Given the description of an element on the screen output the (x, y) to click on. 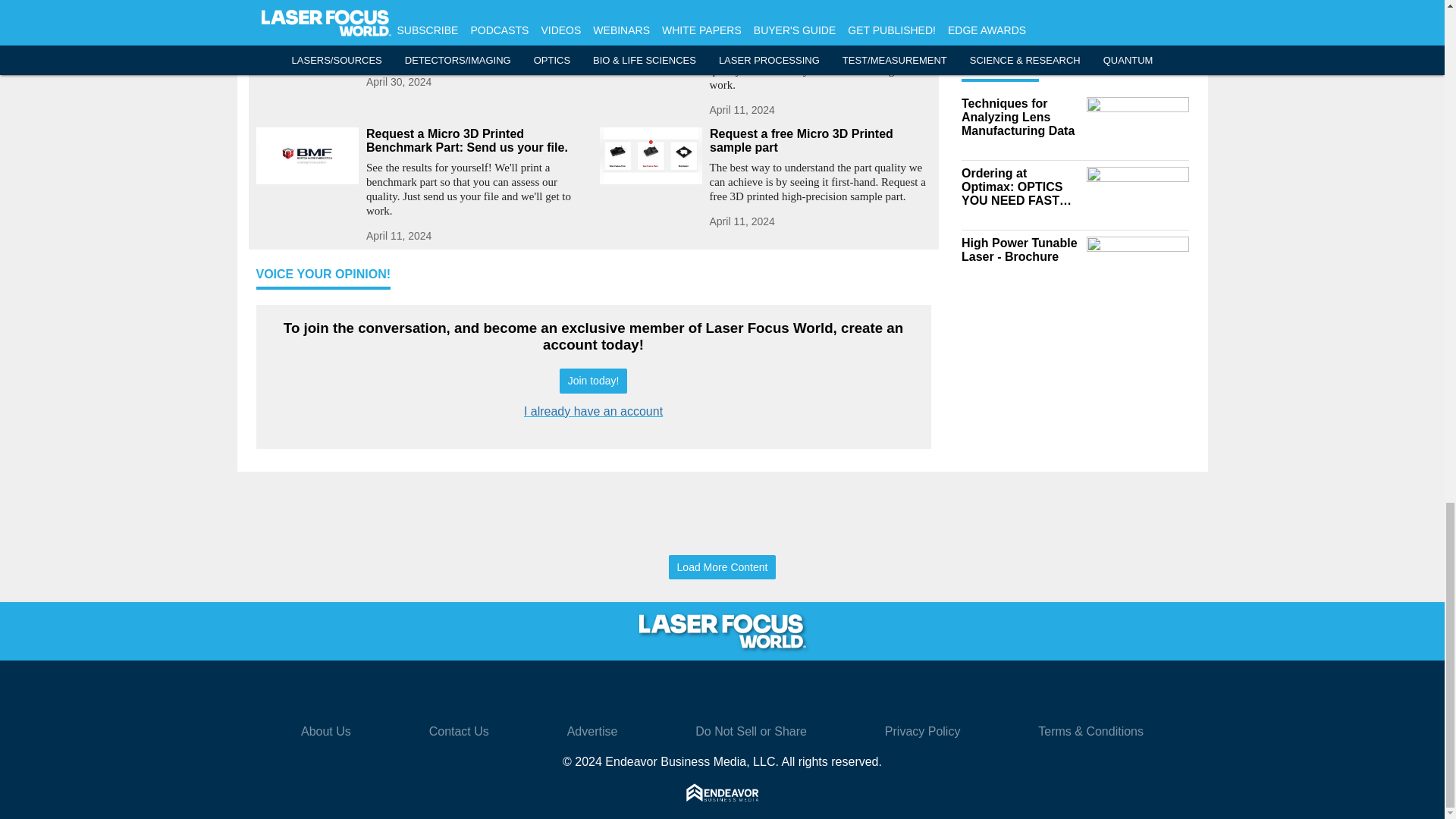
Optical Power Meters for Diverse Applications (476, 7)
Join today! (593, 380)
Request a free Micro 3D Printed sample part (820, 140)
